Given the description of an element on the screen output the (x, y) to click on. 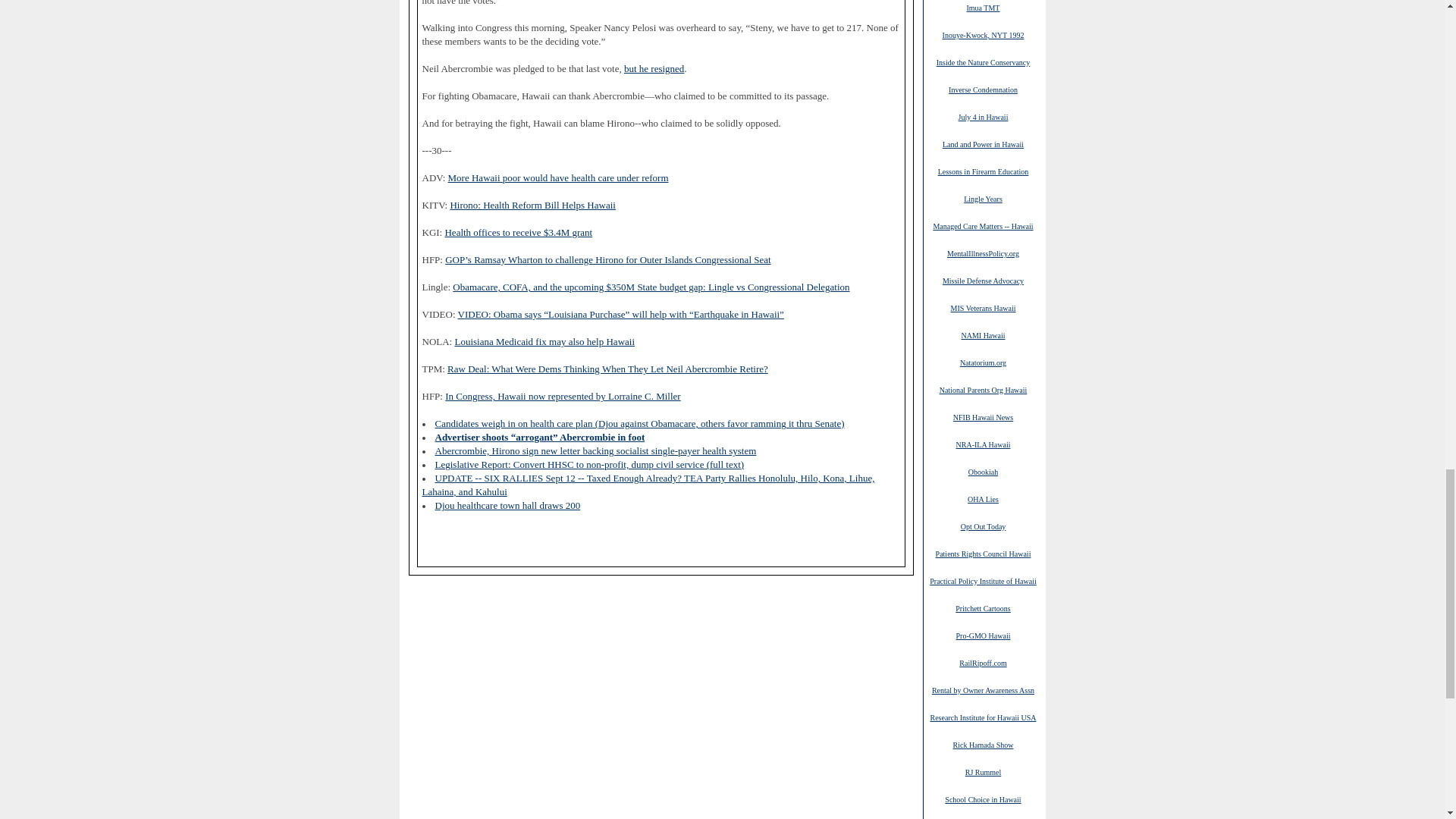
Hirono: Health Reform Bill Helps Hawaii (531, 204)
More Hawaii poor would have health care under reform (558, 177)
In Congress, Hawaii now represented by Lorraine C. Miller (562, 396)
Louisiana Medicaid fix may also help Hawaii (544, 341)
but he resigned (654, 68)
